Given the description of an element on the screen output the (x, y) to click on. 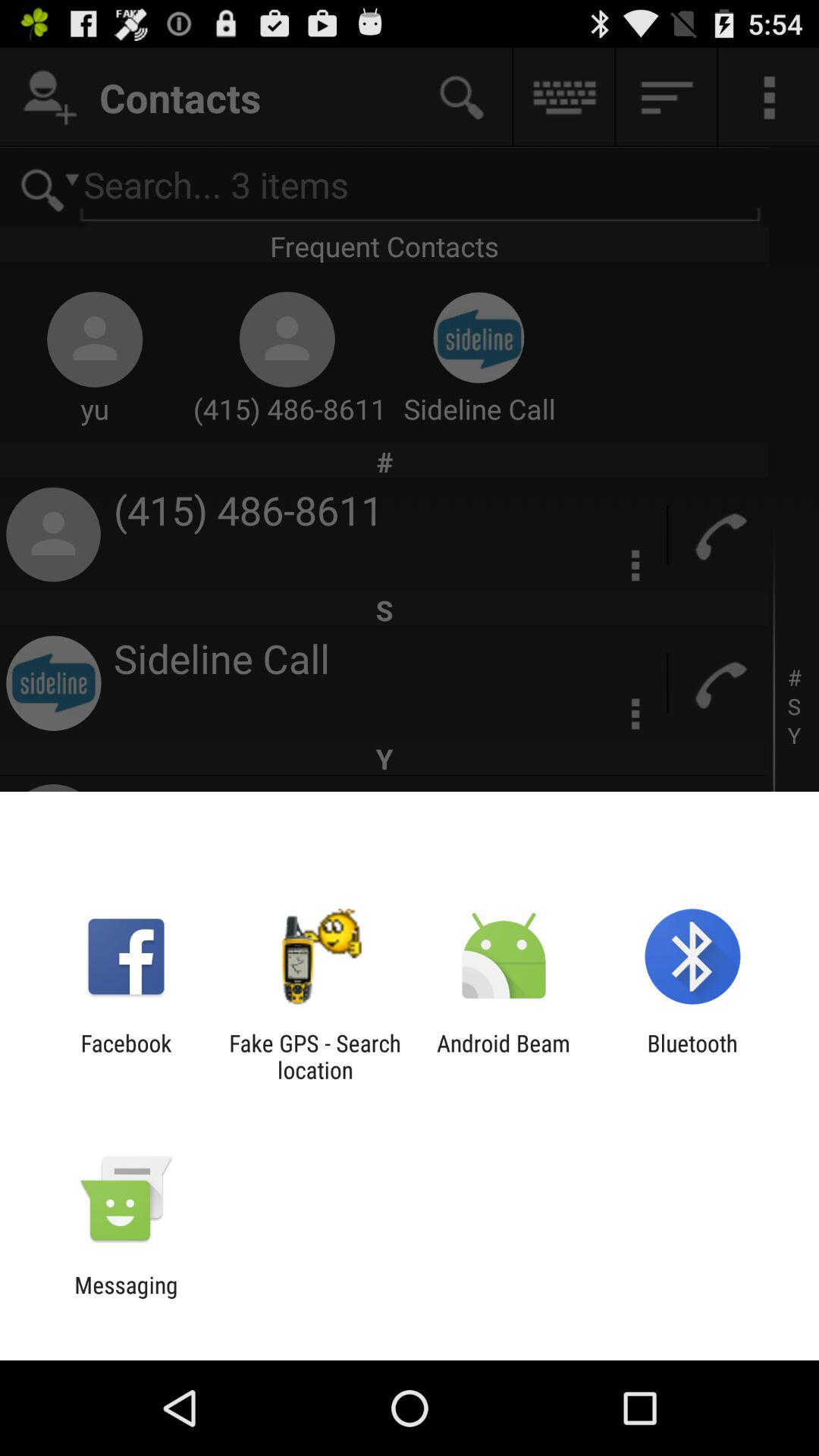
turn on app next to the fake gps search app (125, 1056)
